Given the description of an element on the screen output the (x, y) to click on. 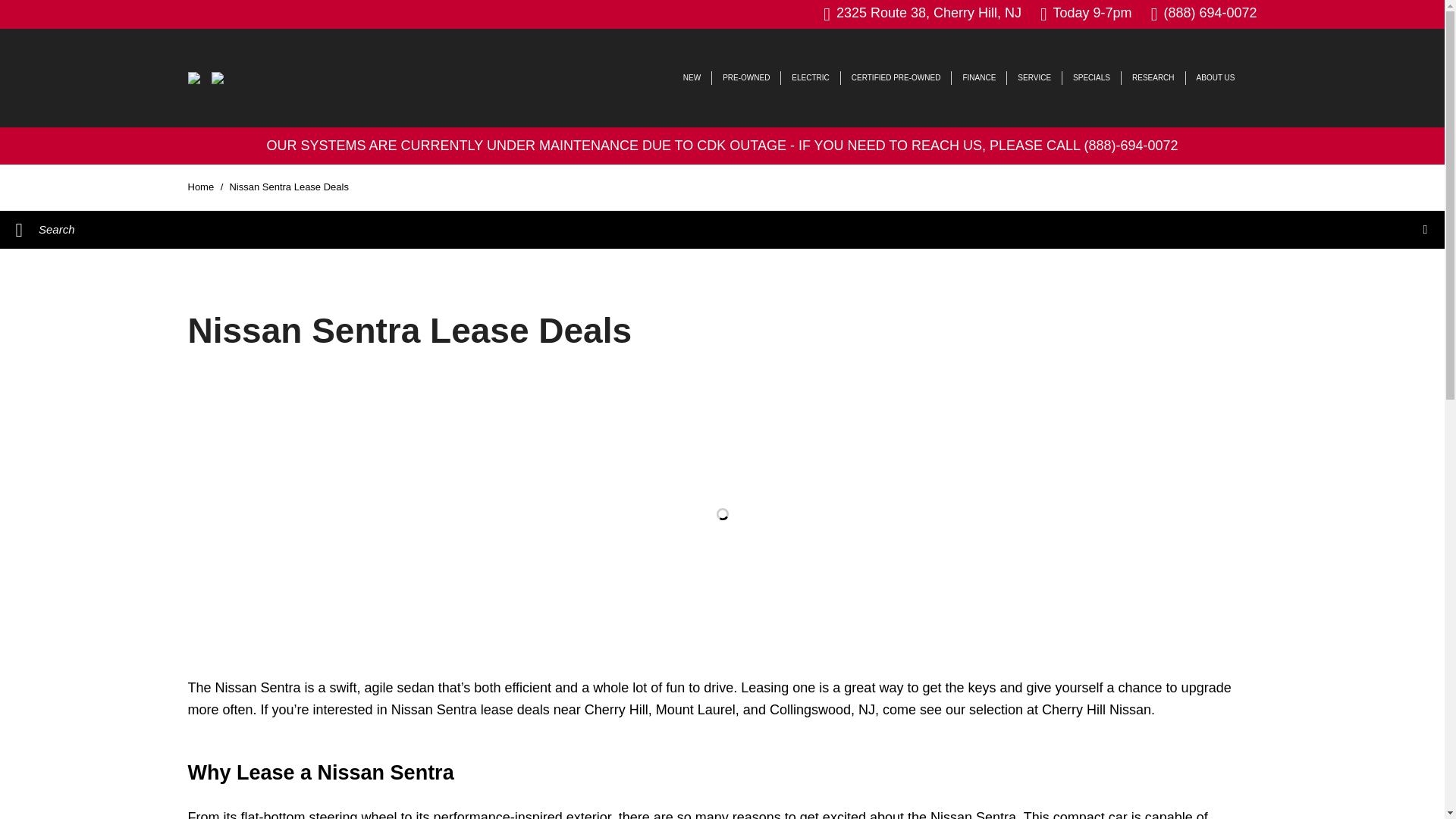
Cherry Hill Nissan (193, 78)
NEW (691, 78)
PRE-OWNED (745, 78)
2325 Route 38, Cherry Hill, NJ (923, 14)
Cherry Hill Nissan (216, 78)
Today 9-7pm (1086, 14)
